Given the description of an element on the screen output the (x, y) to click on. 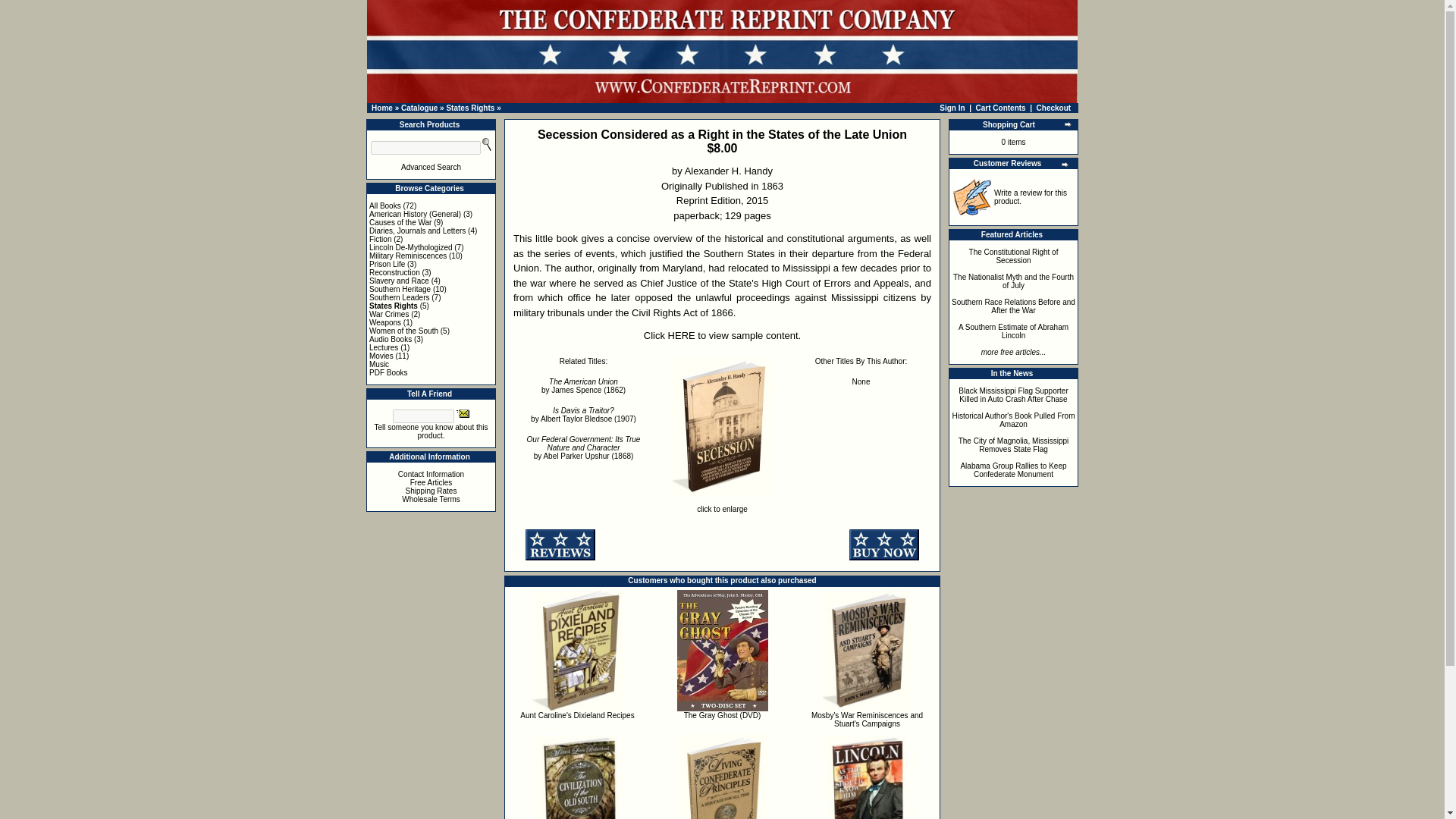
Lincoln De-Mythologized (410, 247)
Music (378, 364)
Checkout (1053, 108)
All Books (385, 205)
Contact Information (430, 474)
Audio Books (390, 338)
Prison Life (386, 264)
Wholesale Terms (430, 499)
Shipping Rates (431, 490)
 Lincoln as the South Should Know Him  (867, 776)
